Given the description of an element on the screen output the (x, y) to click on. 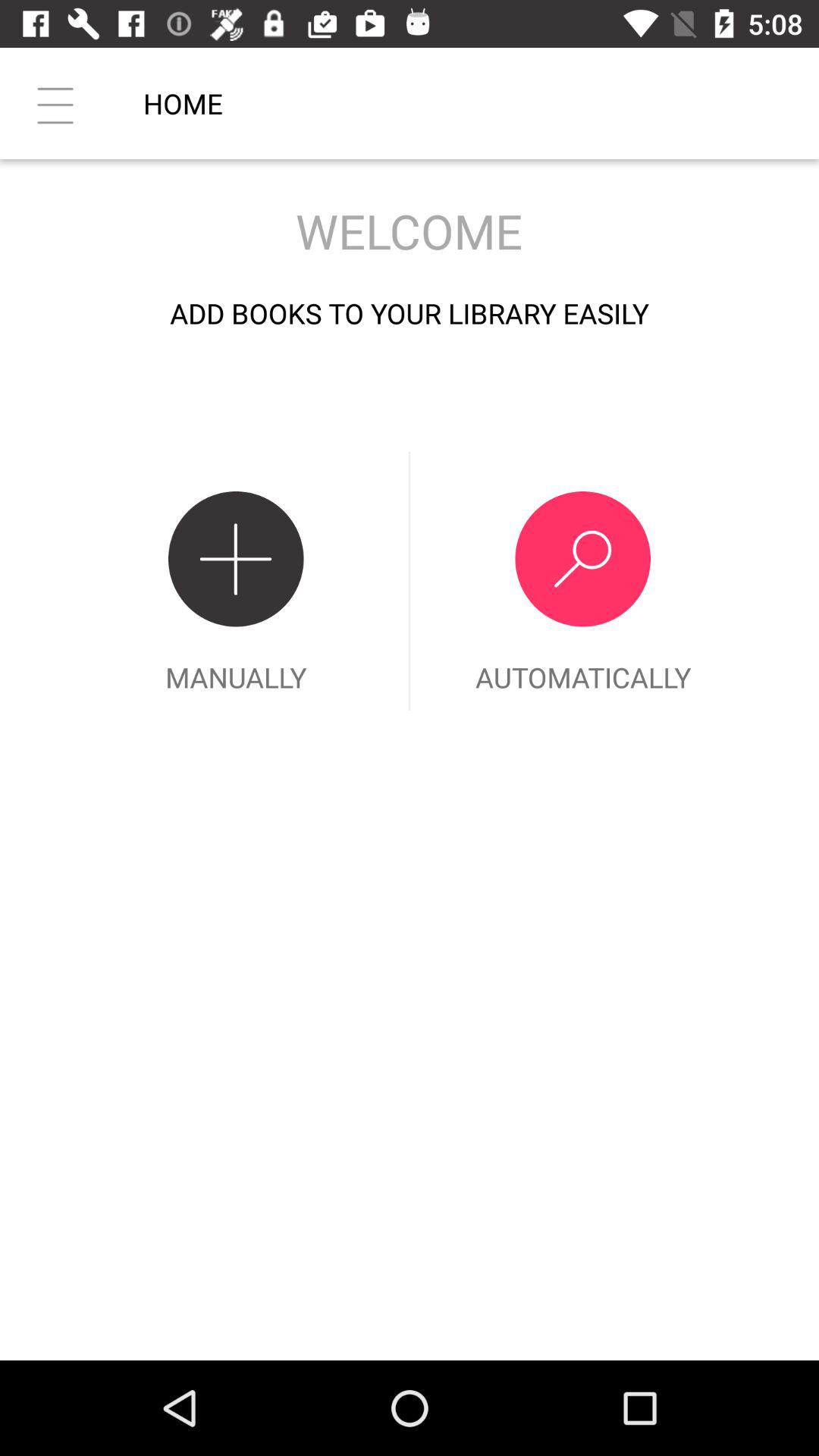
open automatically item (582, 580)
